Given the description of an element on the screen output the (x, y) to click on. 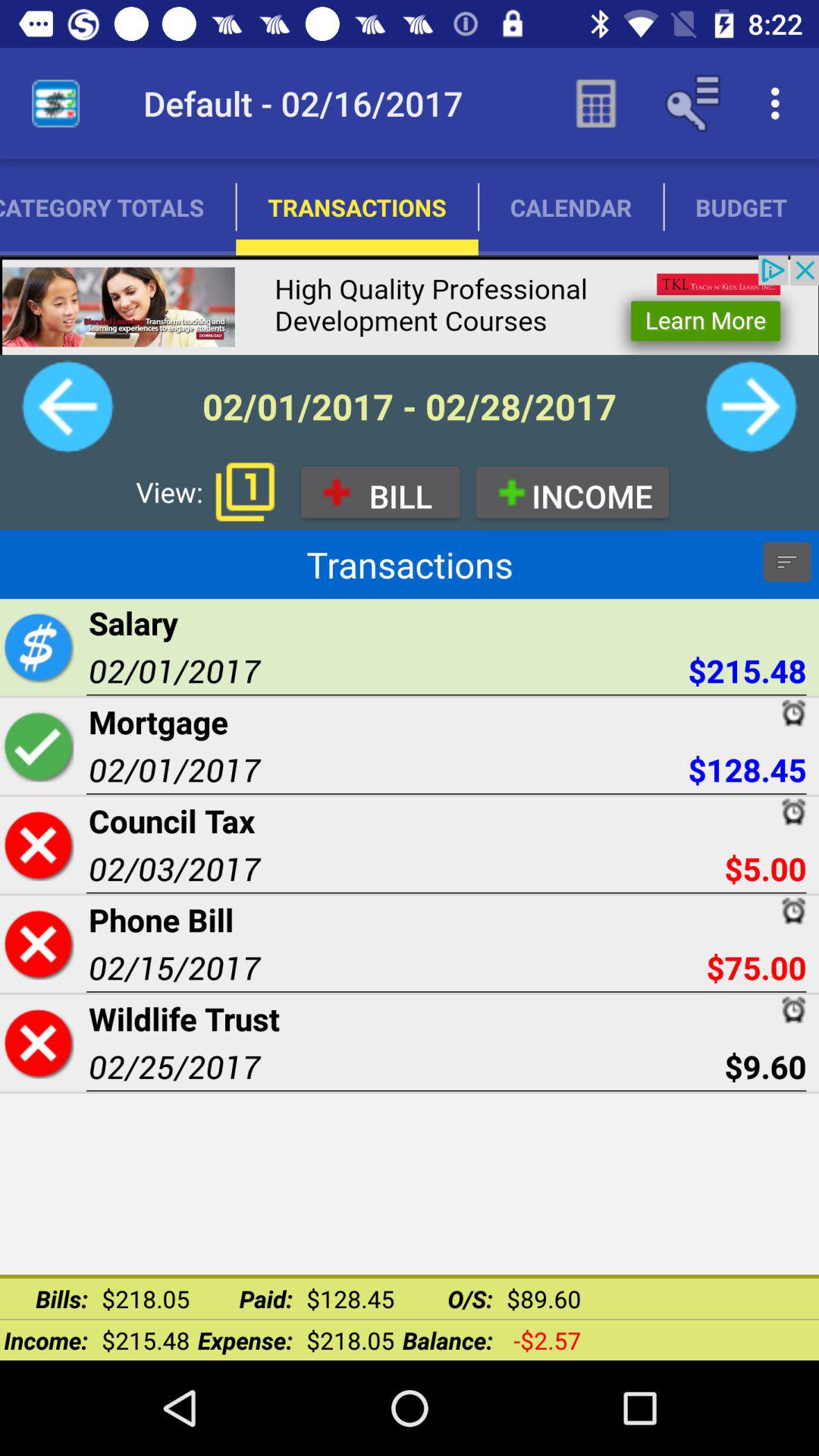
delete item (37, 1042)
